Given the description of an element on the screen output the (x, y) to click on. 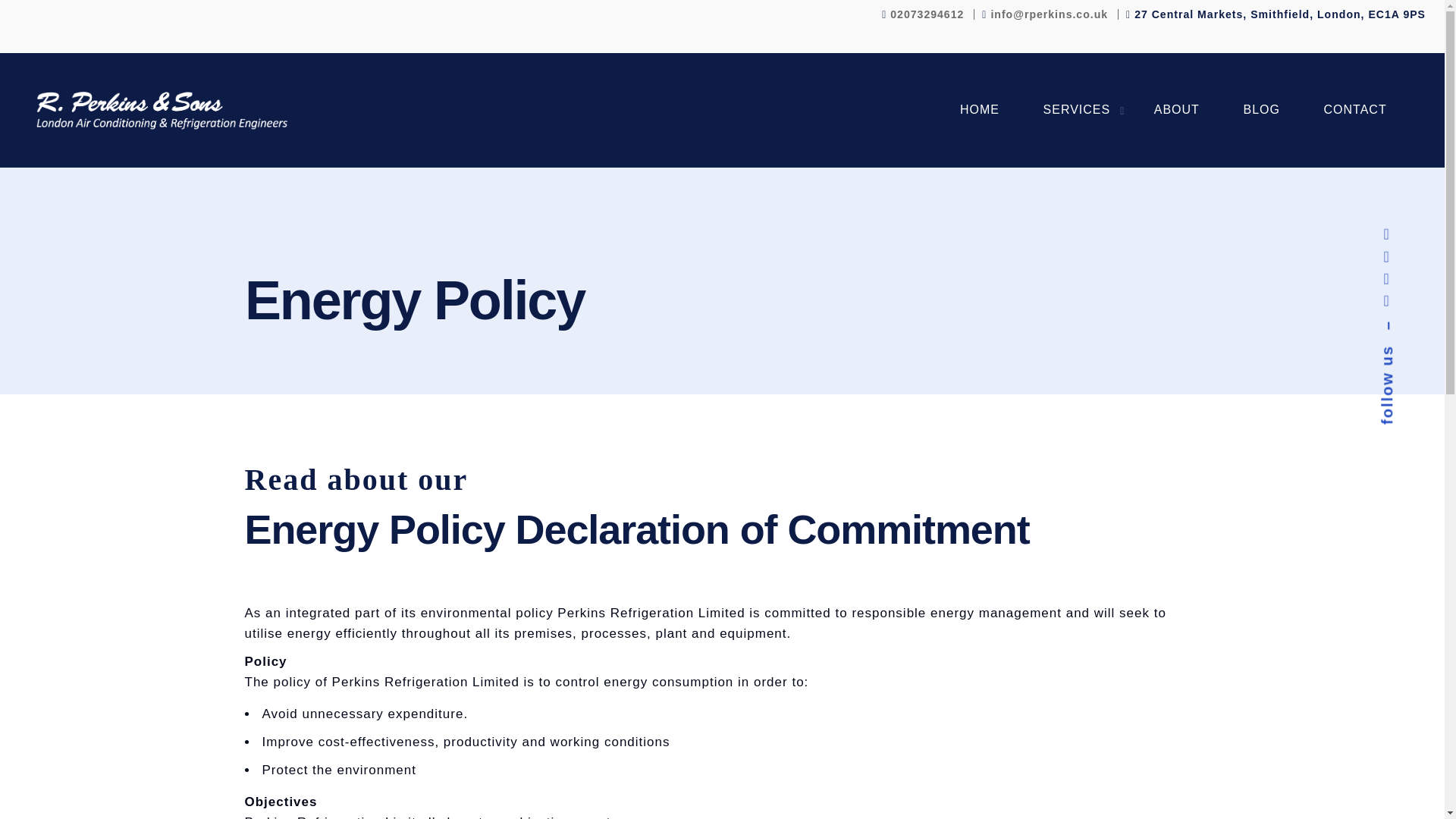
ABOUT (1176, 109)
BLOG (1261, 109)
02073294612 (926, 14)
HOME (979, 109)
CONTACT (1355, 109)
SERVICES (1077, 109)
